Given the description of an element on the screen output the (x, y) to click on. 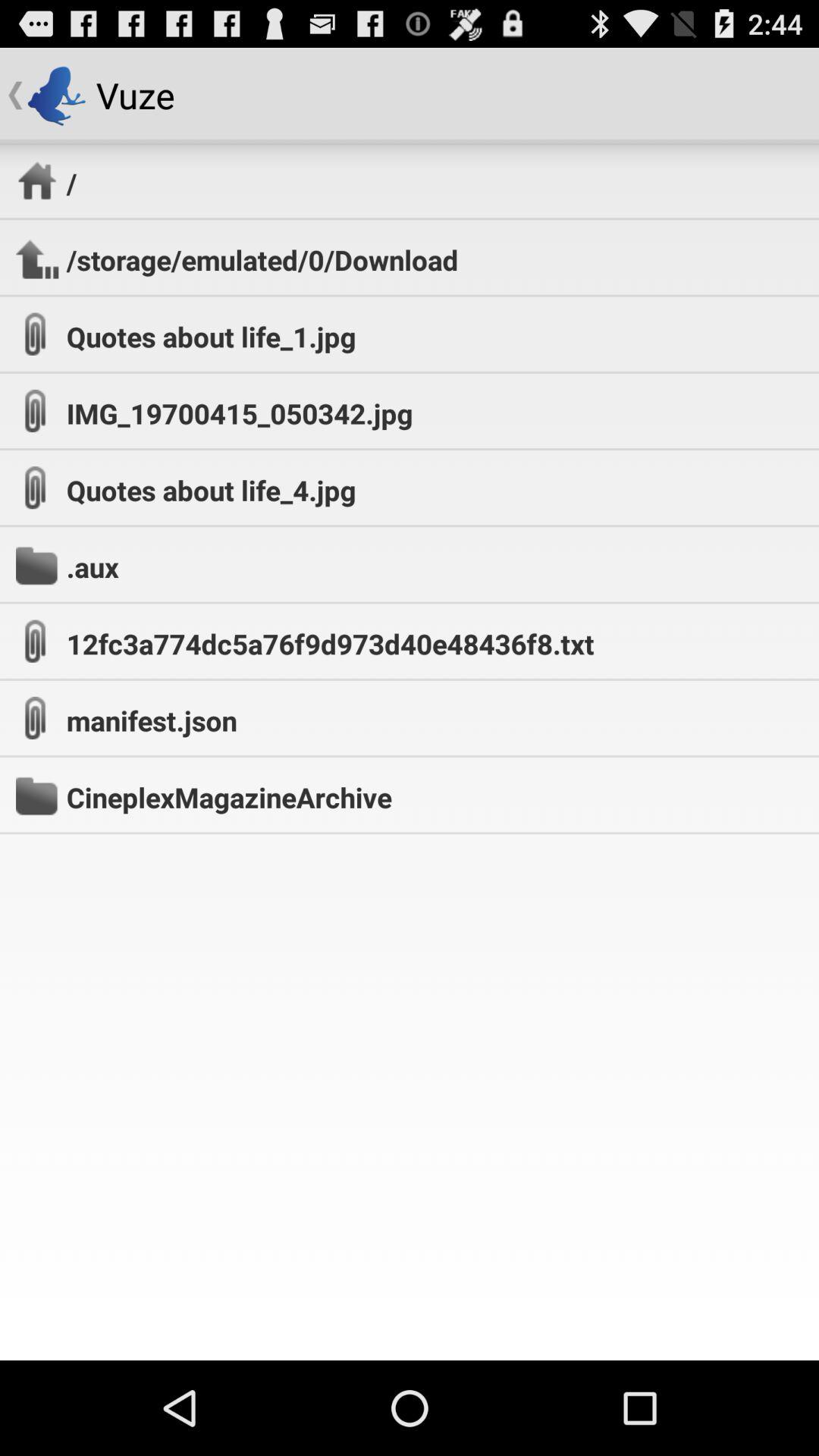
swipe until manifest.json item (151, 720)
